Given the description of an element on the screen output the (x, y) to click on. 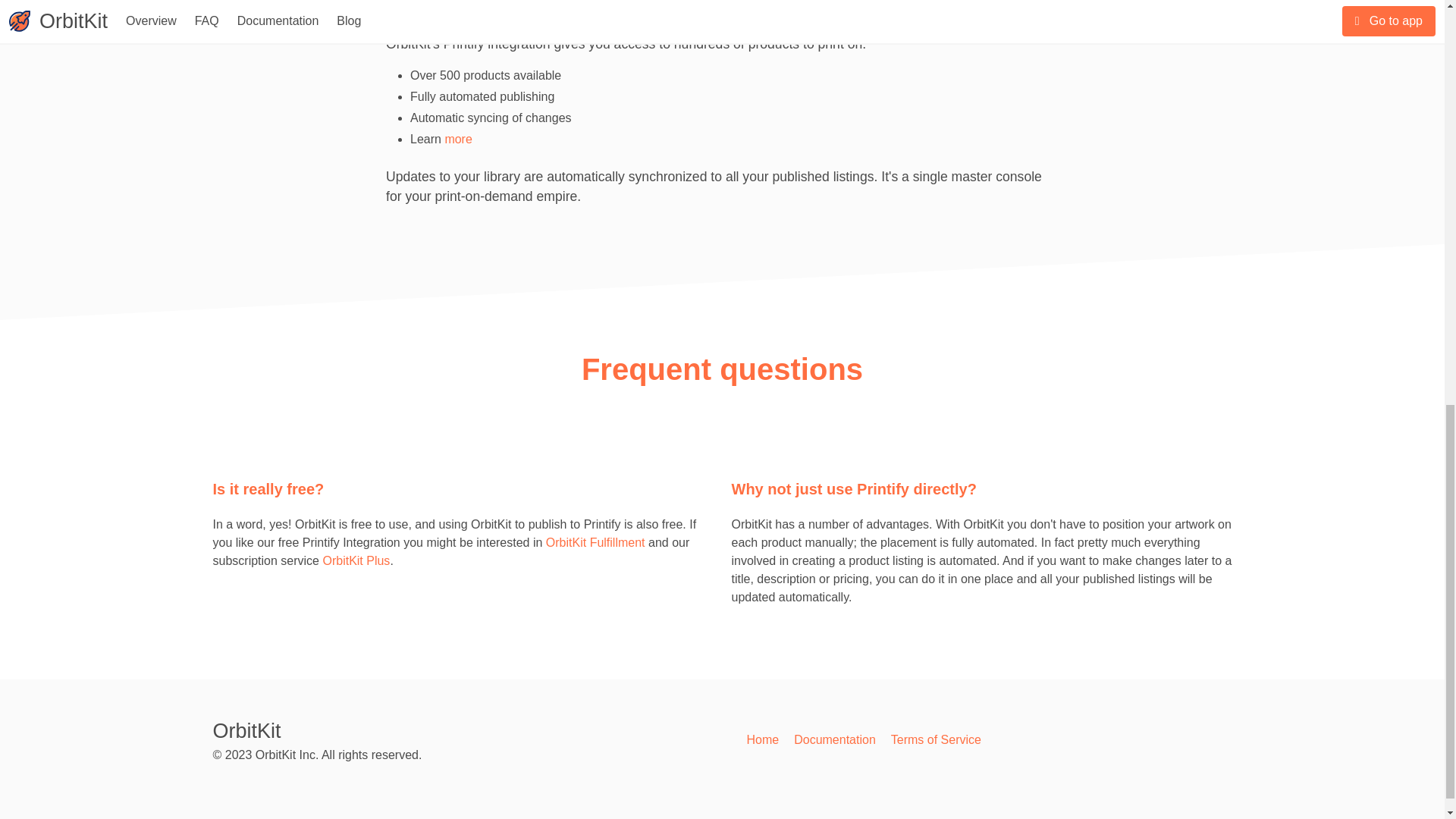
OrbitKit Plus (355, 560)
Documentation (834, 740)
Home (761, 740)
more (457, 138)
Terms of Service (936, 740)
OrbitKit Fulfillment (595, 542)
